Given the description of an element on the screen output the (x, y) to click on. 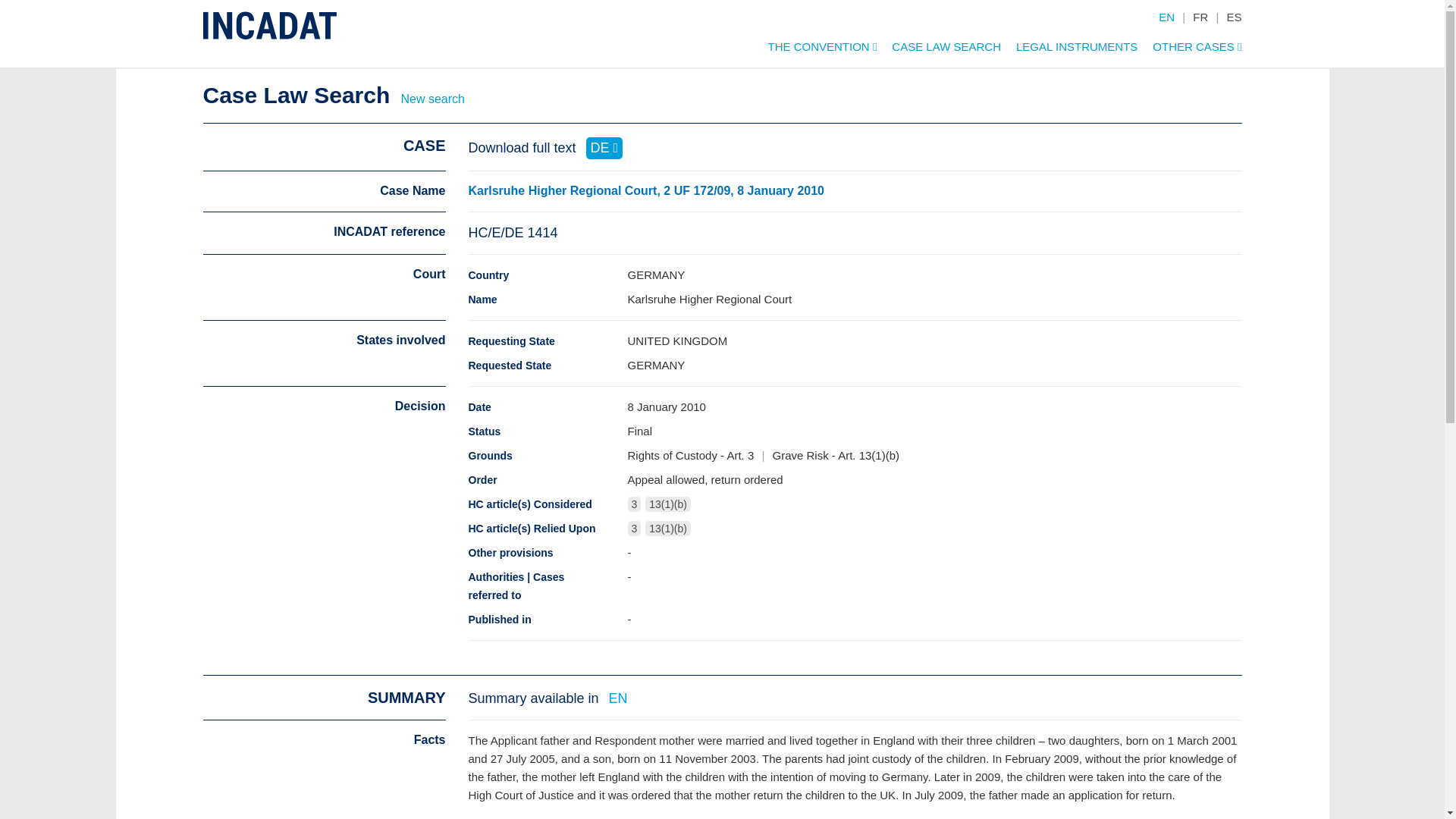
CASE LAW SEARCH (938, 50)
FR (1200, 16)
New search (432, 98)
OTHER CASES (1189, 50)
EN (1166, 16)
DE (604, 147)
THE CONVENTION (814, 50)
ES (1233, 16)
LEGAL INSTRUMENTS (1069, 50)
download (604, 147)
